Given the description of an element on the screen output the (x, y) to click on. 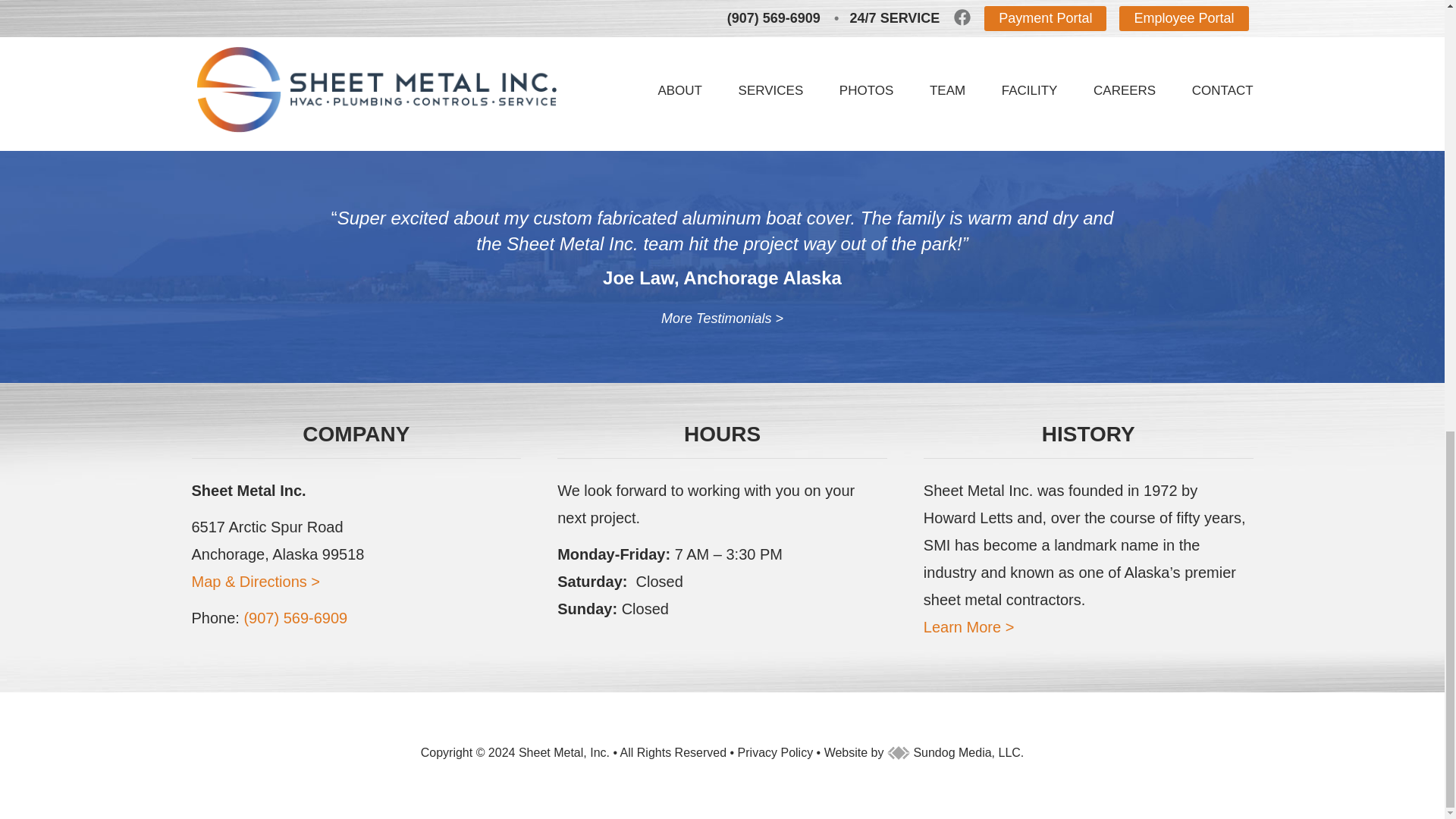
Sheet Metal, Inc. (564, 752)
Privacy Policy (775, 752)
Sundog Media, LLC (953, 752)
More Testimonials (722, 318)
Testimonials (722, 318)
Learn More (968, 627)
